Given the description of an element on the screen output the (x, y) to click on. 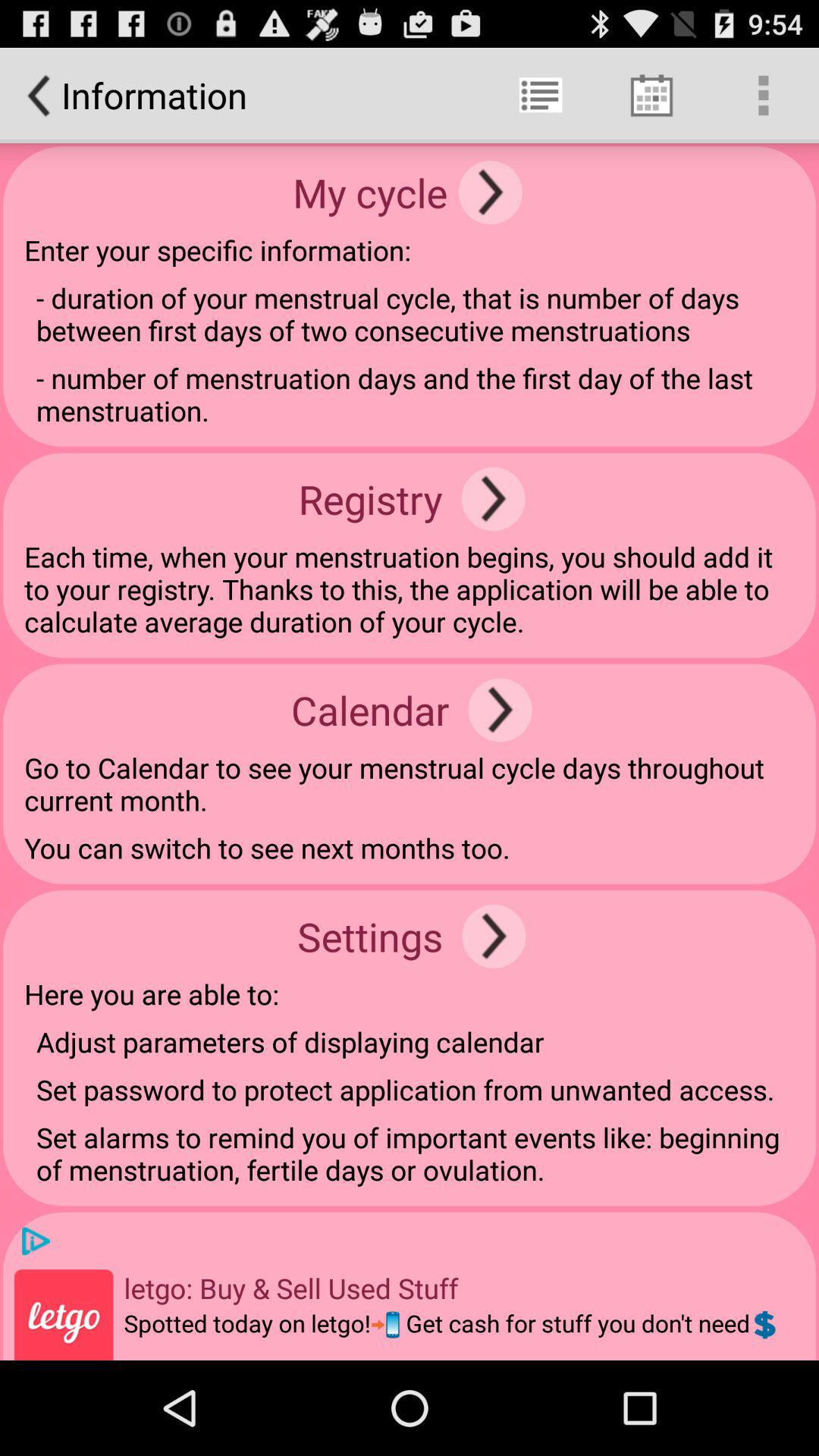
turn off icon above the duration of your app (490, 192)
